Given the description of an element on the screen output the (x, y) to click on. 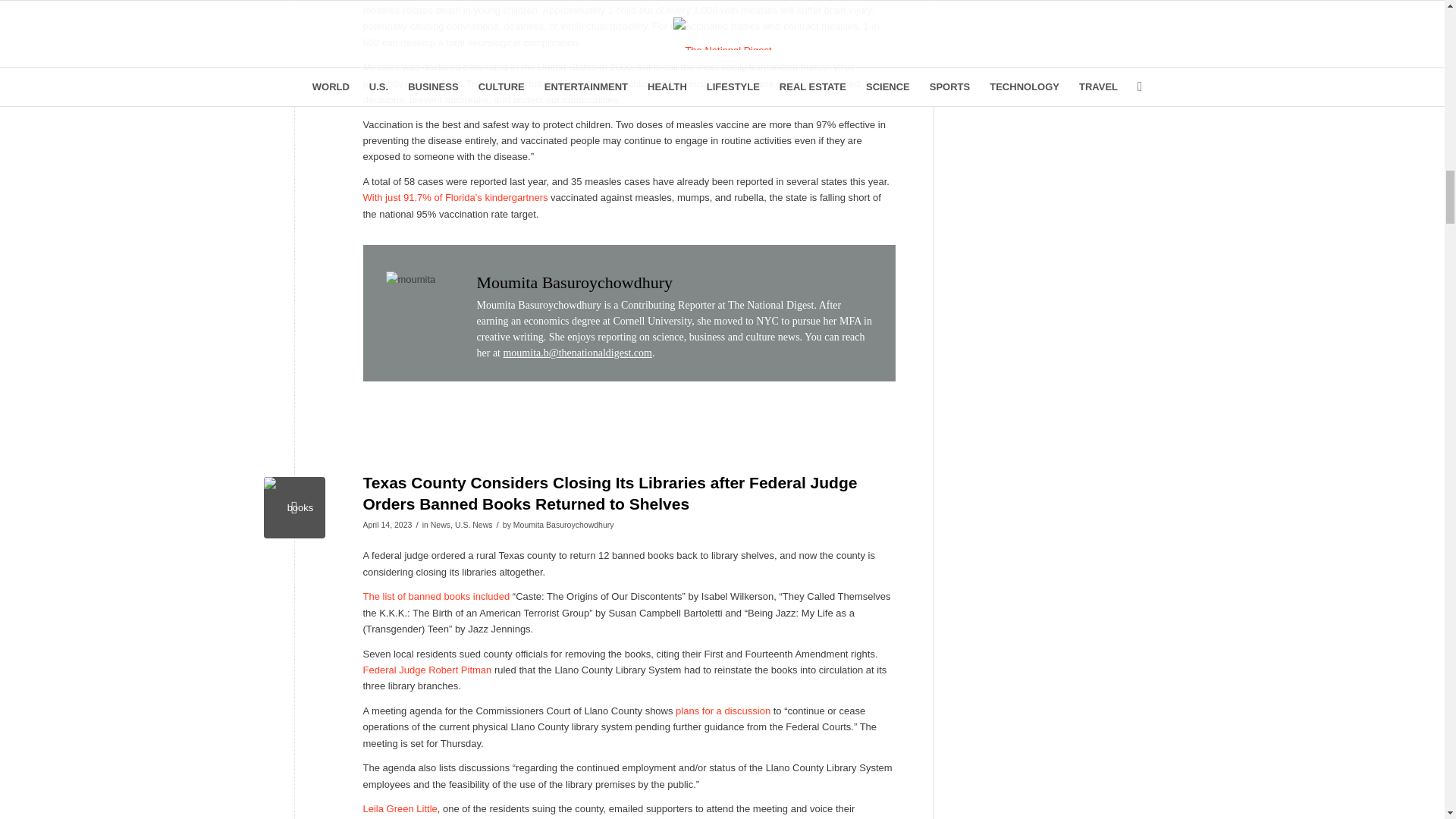
Posts by Moumita Basuroychowdhury (563, 524)
books (293, 507)
